Given the description of an element on the screen output the (x, y) to click on. 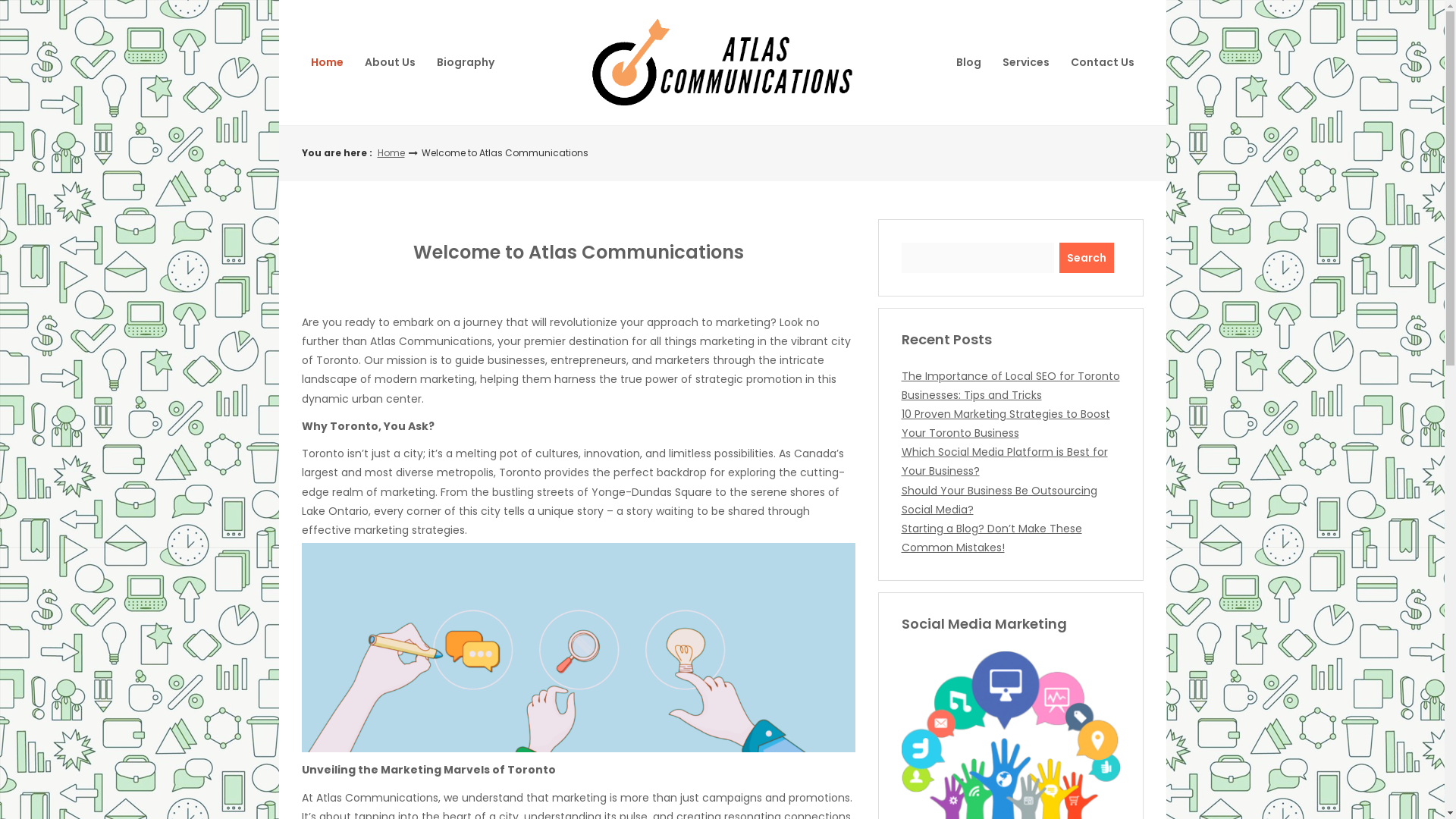
Home Element type: text (390, 152)
About Us Element type: text (388, 62)
Home Element type: text (326, 62)
Services Element type: text (1025, 62)
Biography Element type: text (465, 62)
Blog Element type: text (967, 62)
Should Your Business Be Outsourcing Social Media? Element type: text (998, 500)
Which Social Media Platform is Best for Your Business? Element type: text (1003, 461)
Contact Us Element type: text (1102, 62)
Search Element type: text (1086, 257)
